Given the description of an element on the screen output the (x, y) to click on. 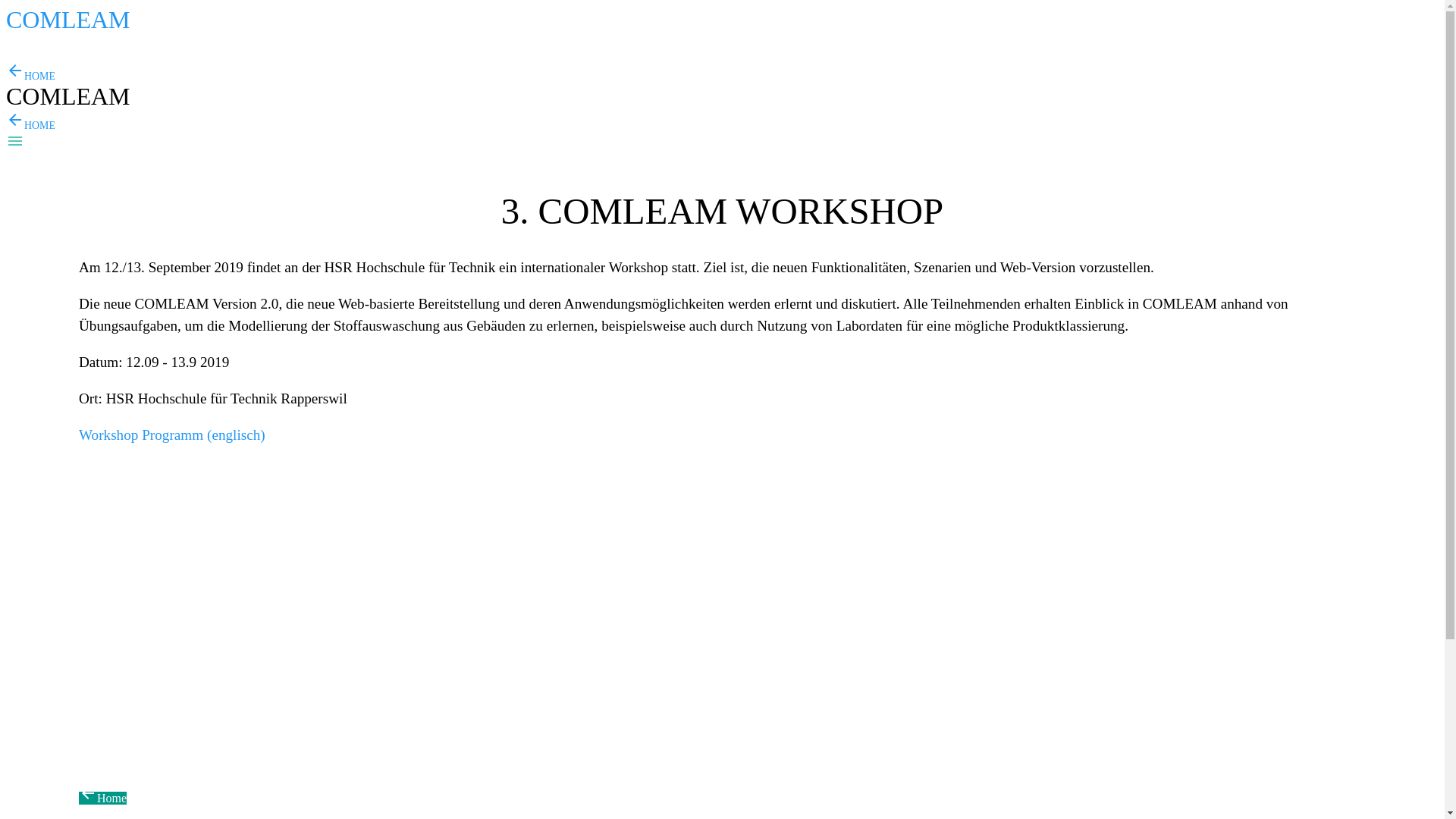
COMLEAM Element type: text (68, 23)
OPEN COMLEAM WEB-APP open_in_new Element type: text (93, 53)
DE Element type: text (17, 40)
arrow_backHOME Element type: text (30, 75)
arrow_backHome Element type: text (102, 797)
EN Element type: text (42, 40)
arrow_backHOME Element type: text (30, 125)
Workshop Programm (englisch) Element type: text (171, 434)
